Given the description of an element on the screen output the (x, y) to click on. 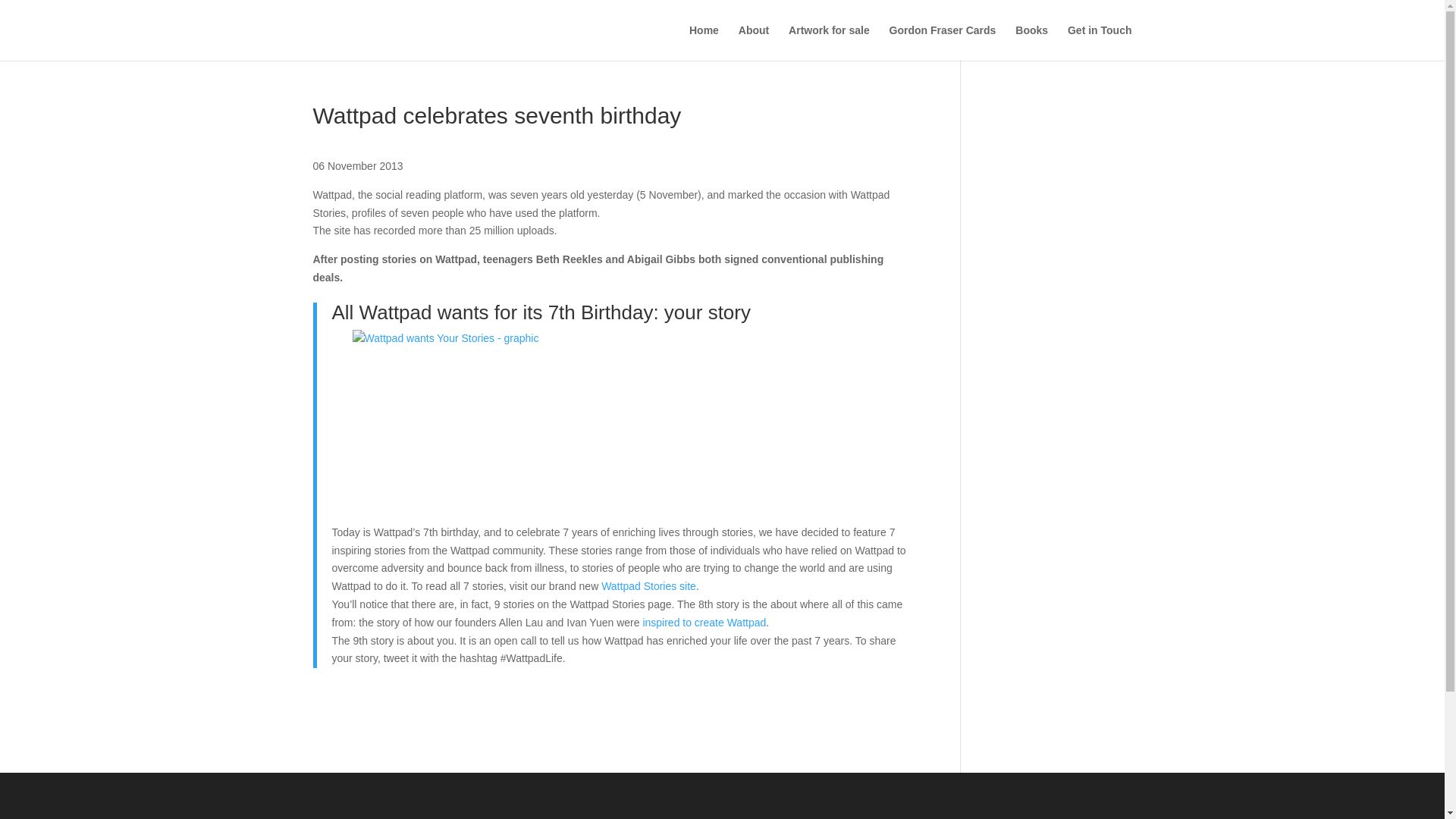
Artwork for sale (829, 42)
inspired to create Wattpad (703, 622)
Get in Touch (1099, 42)
Creation of Wattpad (703, 622)
Wattpad Stories site (648, 585)
Books (1031, 42)
All Wattpad wants for its 7th Birthday: your story (541, 312)
Wattpad Stories site (648, 585)
Gordon Fraser Cards (942, 42)
